Given the description of an element on the screen output the (x, y) to click on. 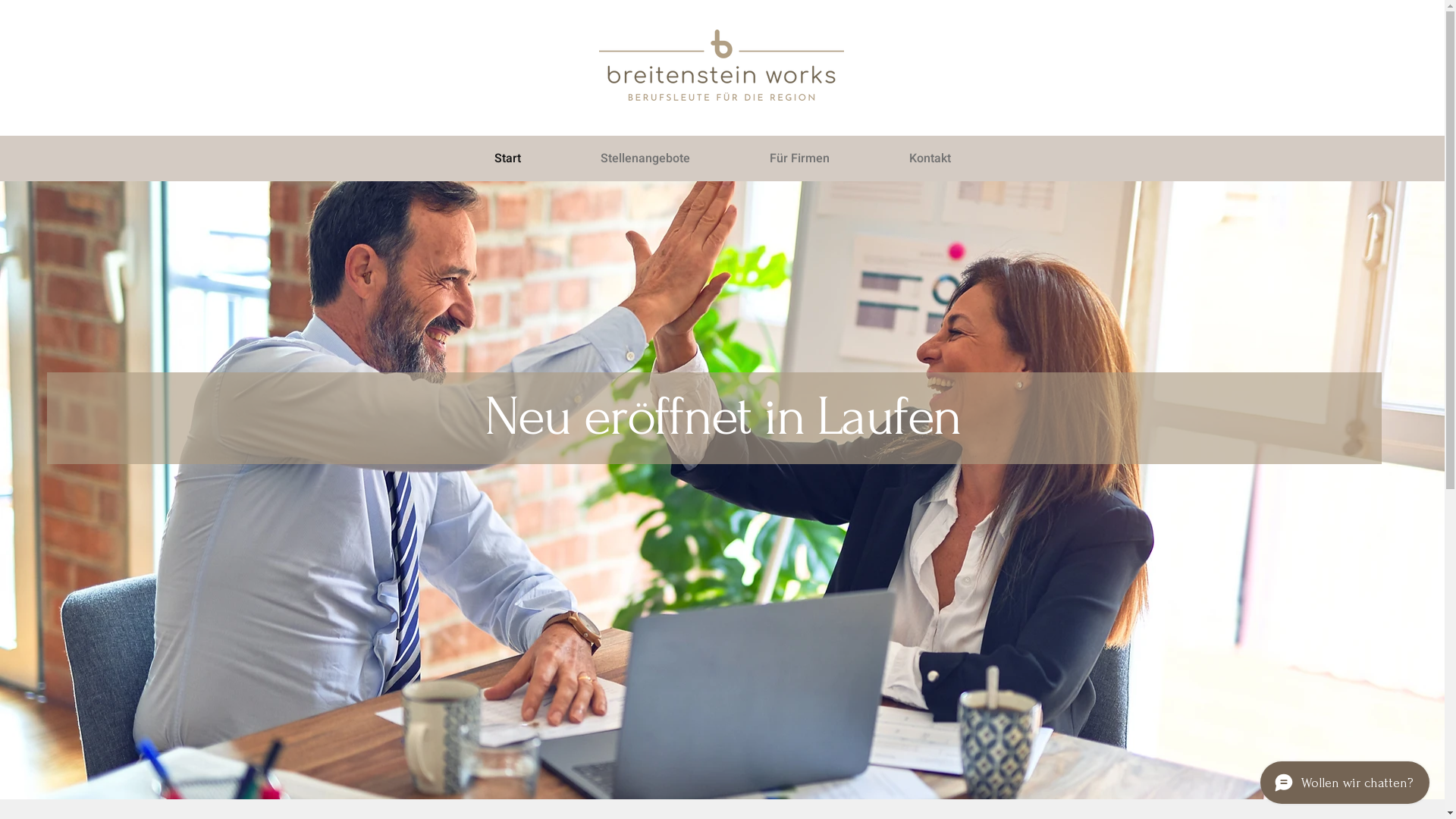
Start Element type: text (506, 158)
Stellenangebote Element type: text (645, 158)
Kontakt Element type: text (929, 158)
